Given the description of an element on the screen output the (x, y) to click on. 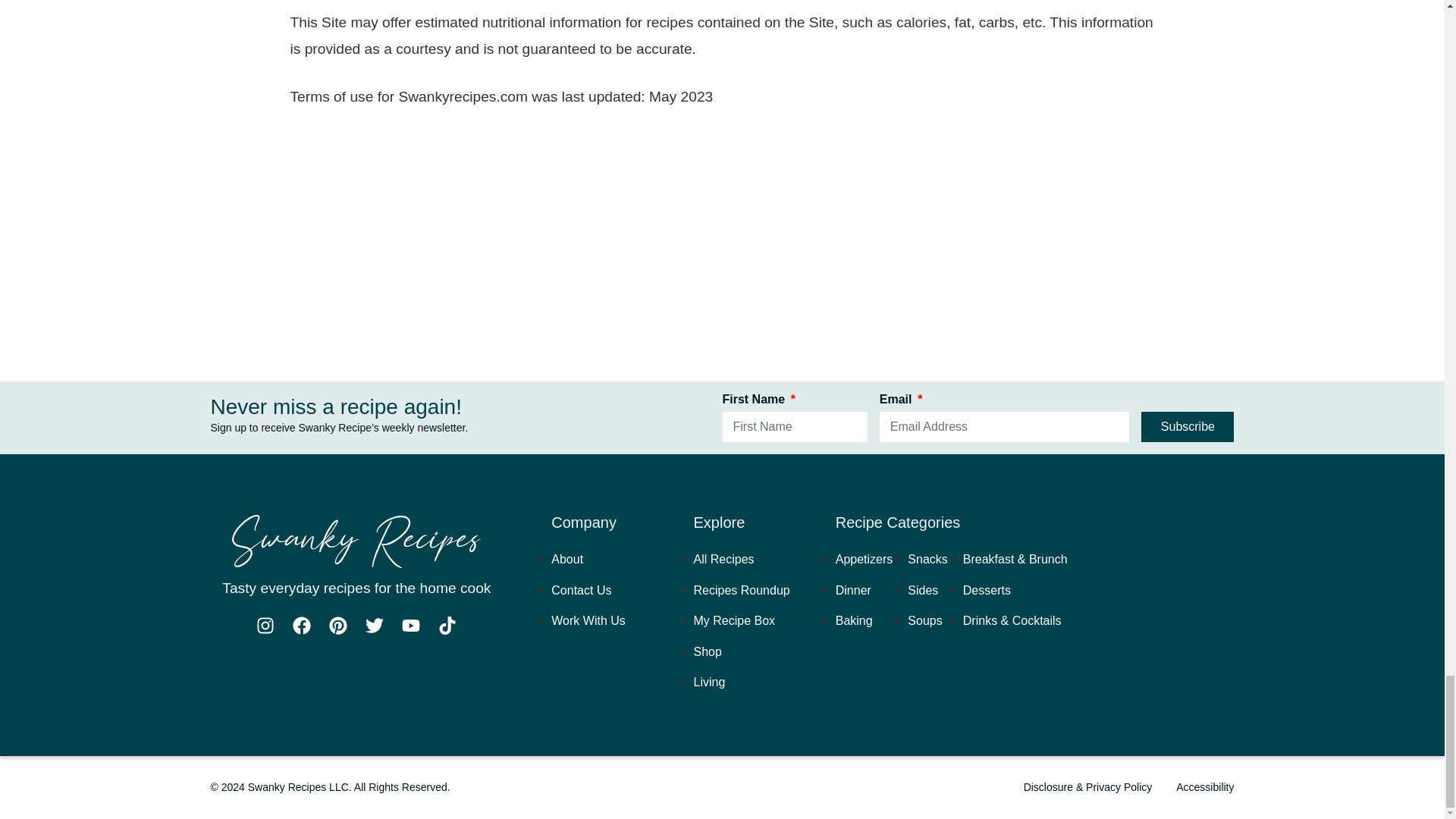
Work With Us (587, 620)
Subscribe (1187, 426)
Recipes Roundup (742, 590)
All Recipes (724, 558)
About (567, 558)
Contact Us (581, 590)
